Given the description of an element on the screen output the (x, y) to click on. 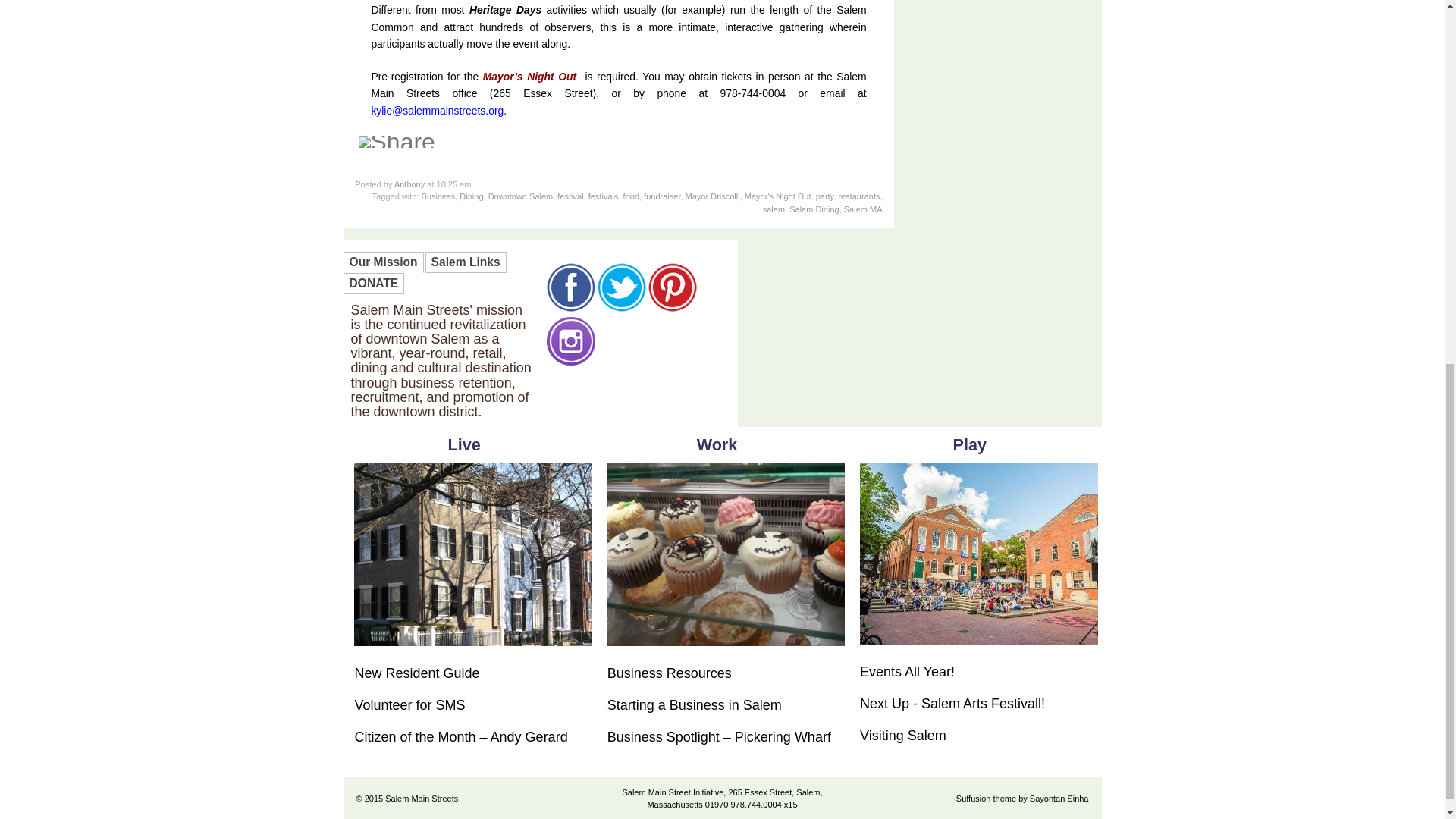
Anthony (409, 184)
Dining (471, 195)
Business (438, 195)
